Given the description of an element on the screen output the (x, y) to click on. 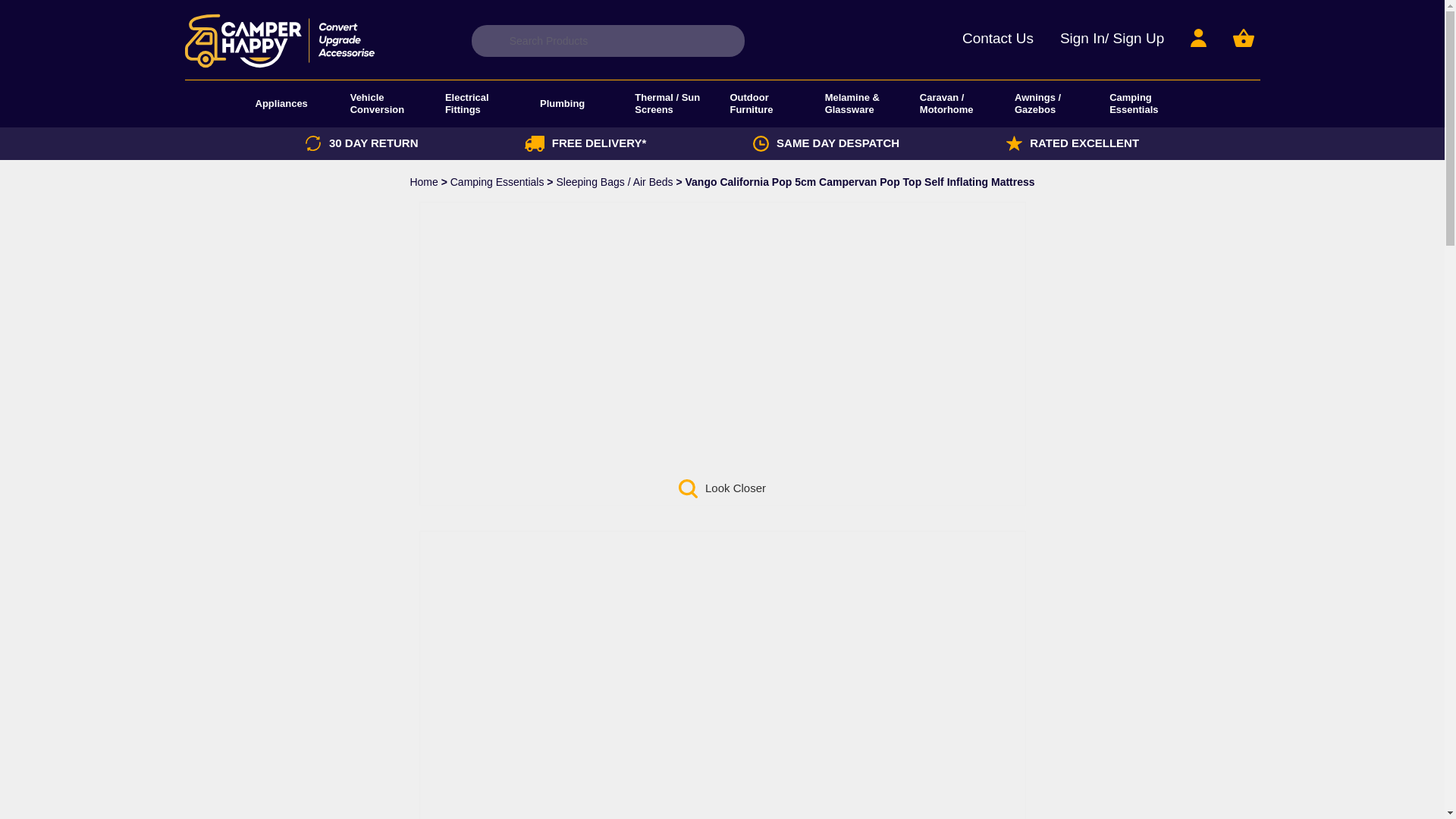
Contact Us (997, 40)
Appliances (280, 103)
Electrical Fittings (485, 103)
Vehicle Conversion (390, 103)
